Given the description of an element on the screen output the (x, y) to click on. 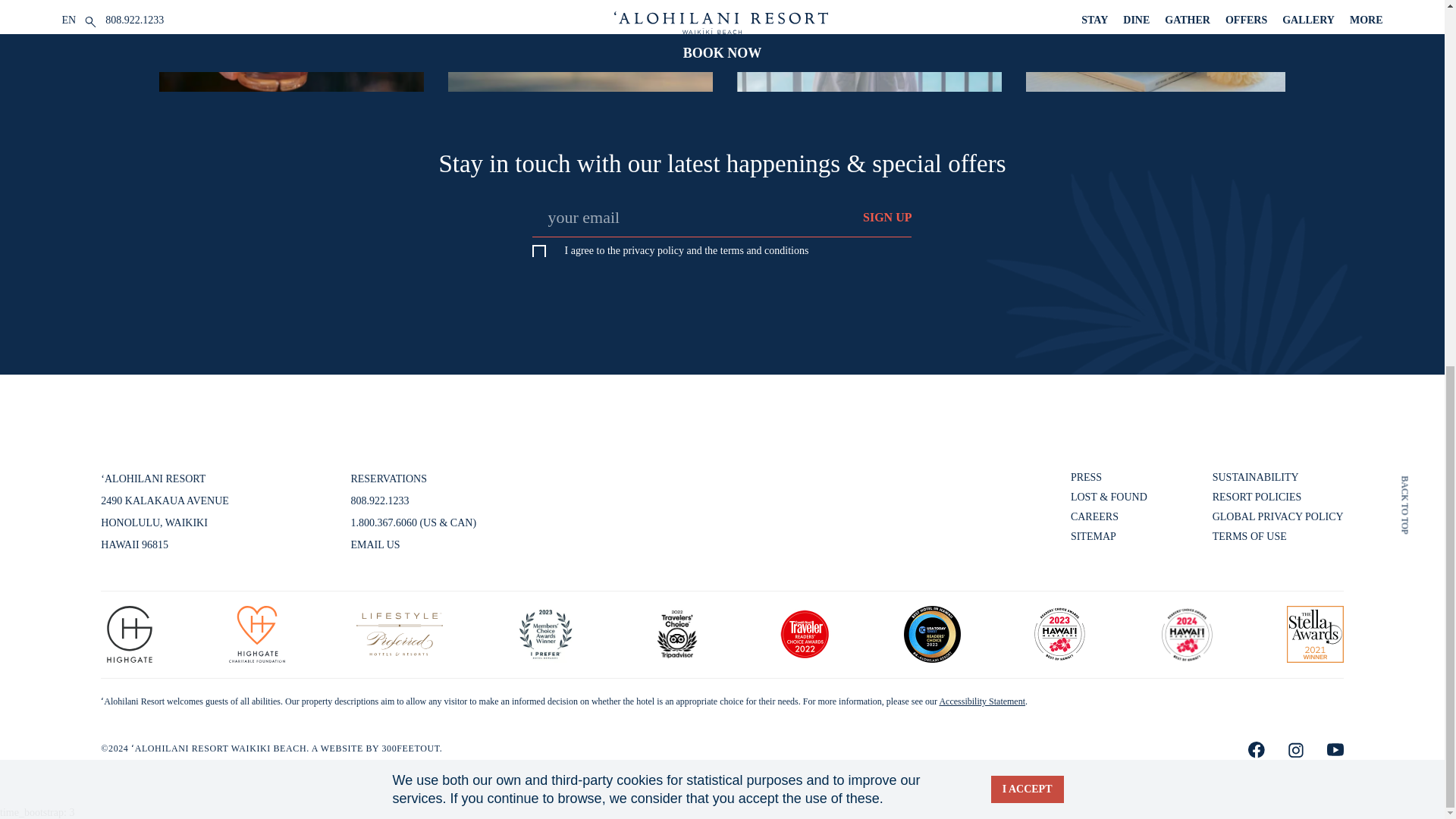
Sign Up (871, 218)
I ACCEPT (1027, 129)
on (539, 251)
